Given the description of an element on the screen output the (x, y) to click on. 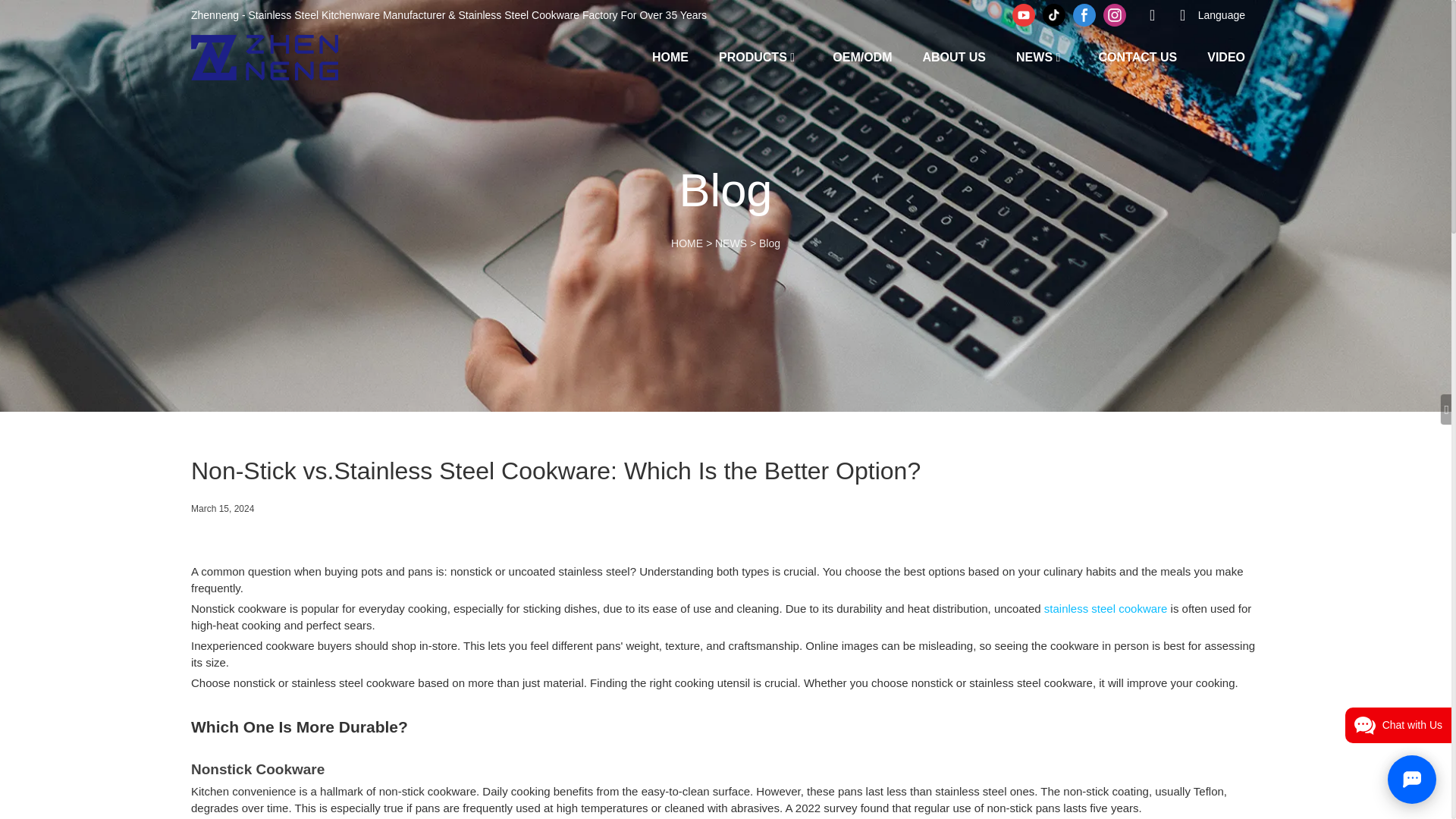
instagram (1114, 15)
CONTACT US (1136, 56)
facebook (1083, 15)
stainless steel cookware (1105, 608)
HOME (670, 56)
NEWS (1034, 56)
VIDEO (1225, 56)
PRODUCTS (753, 56)
ABOUT US (953, 56)
tiktok (1053, 15)
youtube (1024, 15)
